Given the description of an element on the screen output the (x, y) to click on. 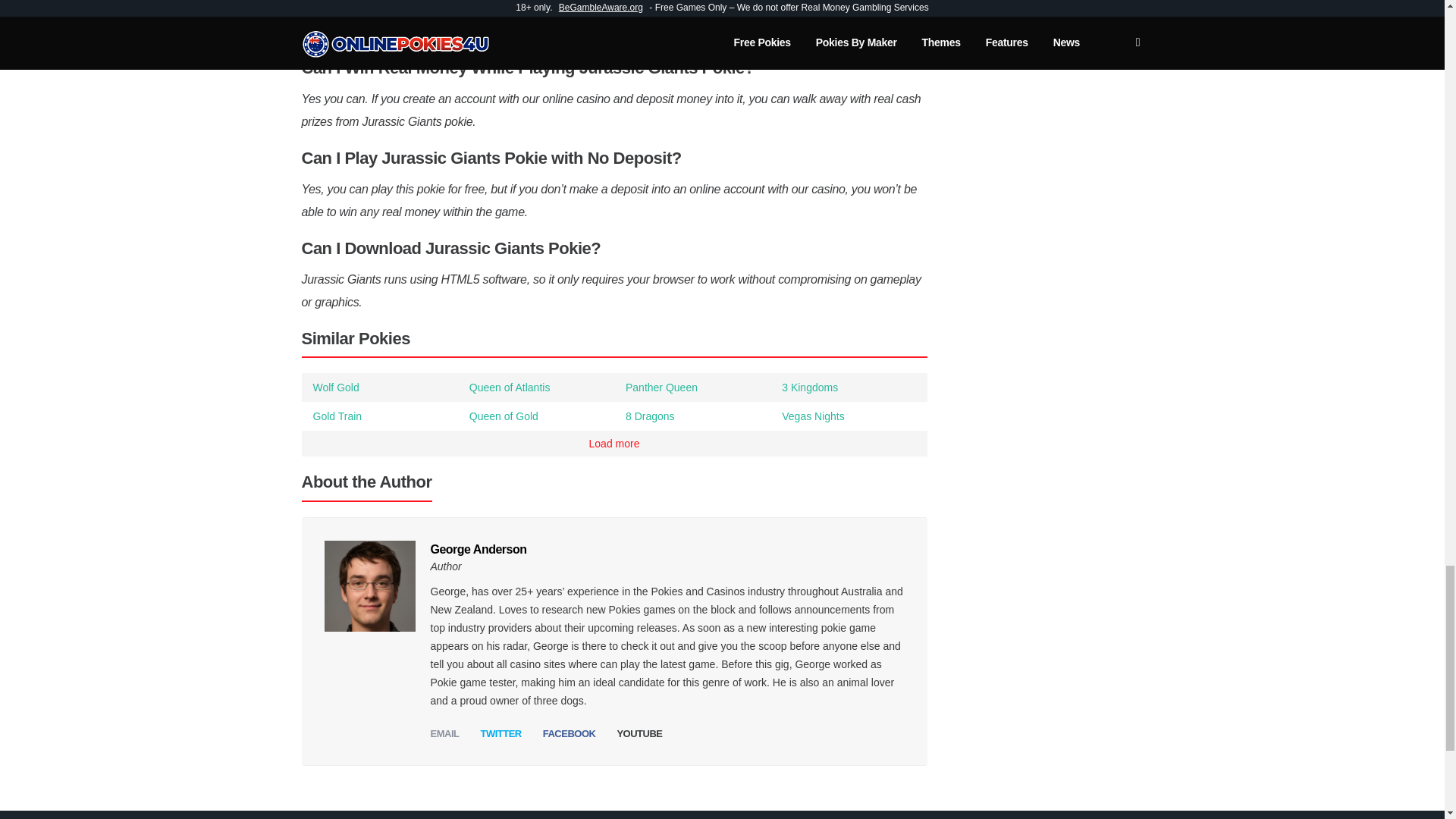
Posts By George Anderson (478, 549)
